Given the description of an element on the screen output the (x, y) to click on. 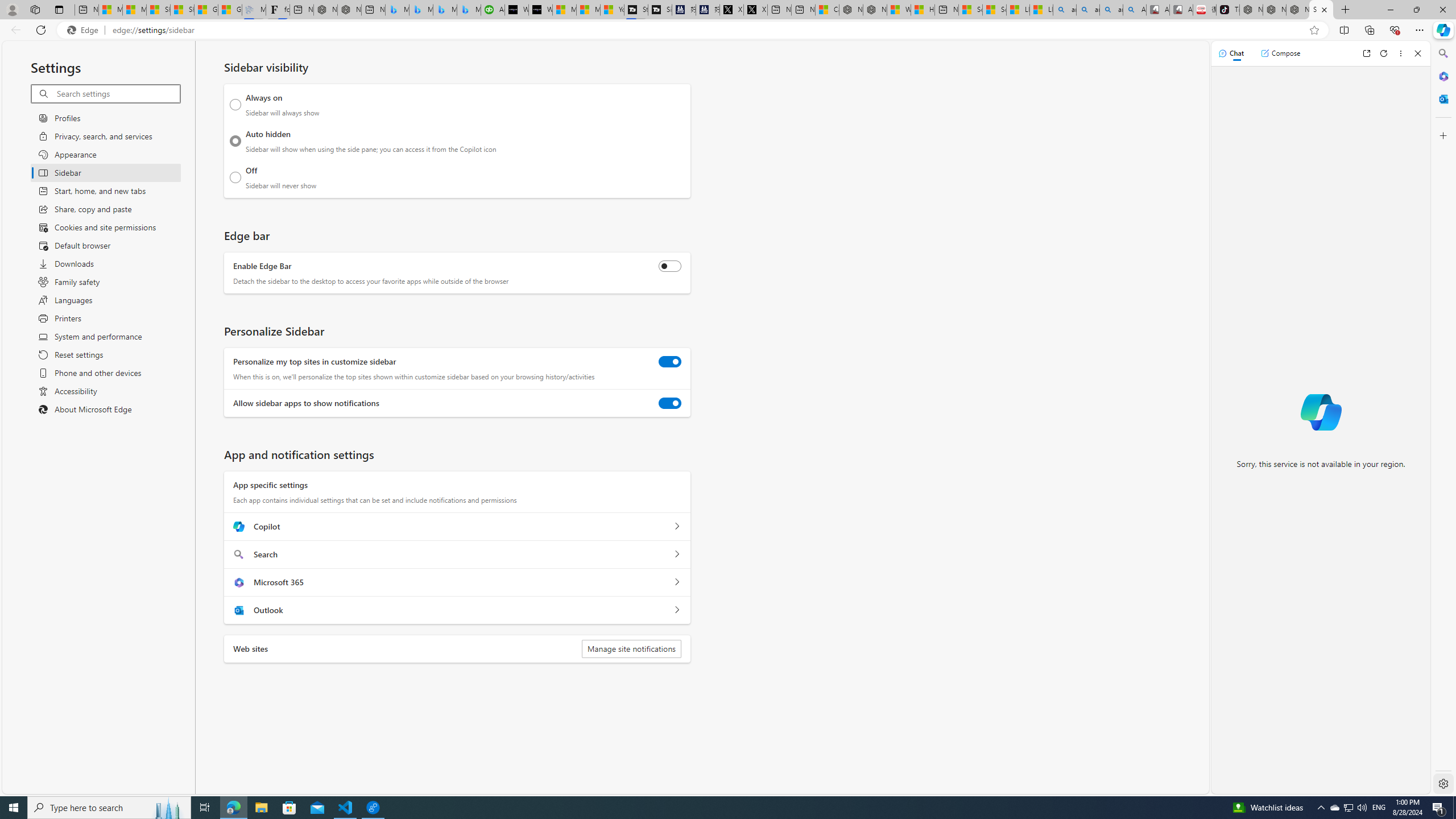
Open link in new tab (1366, 53)
amazon - Search Images (1111, 9)
Settings (1321, 9)
Settings (1442, 783)
